Given the description of an element on the screen output the (x, y) to click on. 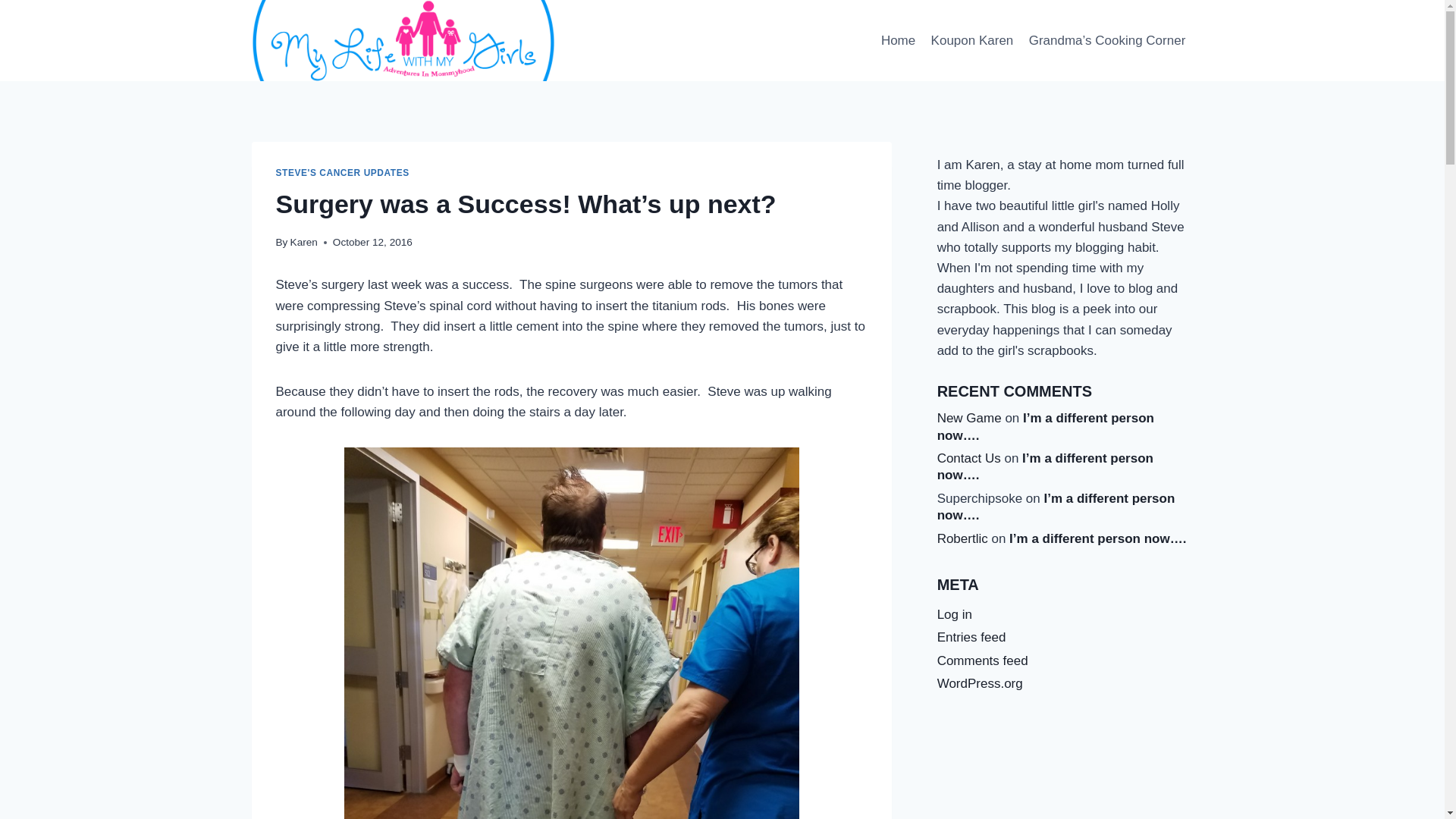
Home (898, 40)
STEVE'S CANCER UPDATES (342, 172)
Karen (303, 242)
Koupon Karen (971, 40)
